Given the description of an element on the screen output the (x, y) to click on. 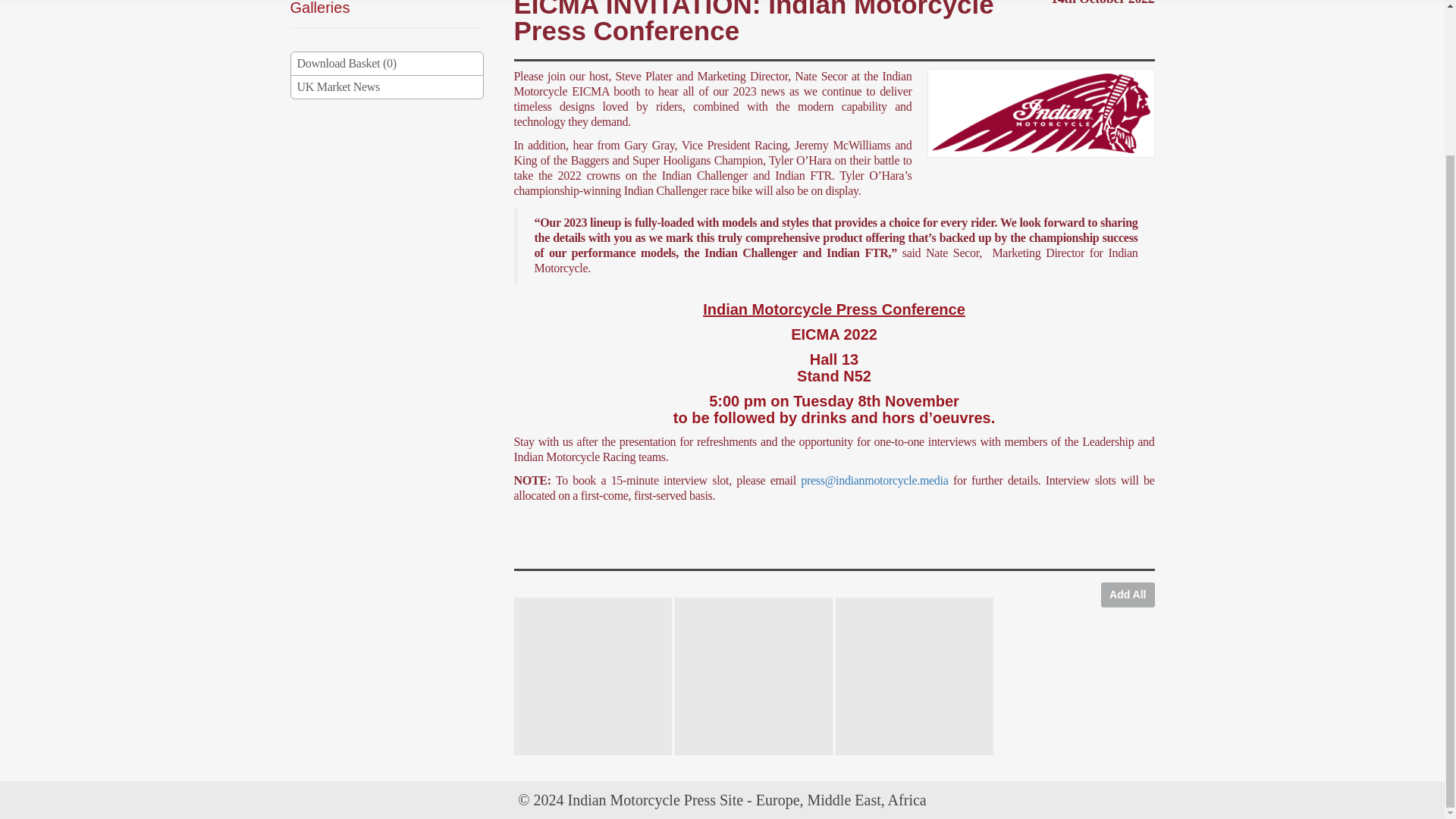
UK Market News (387, 87)
BJN65277 (592, 664)
Add All (1127, 594)
